Given the description of an element on the screen output the (x, y) to click on. 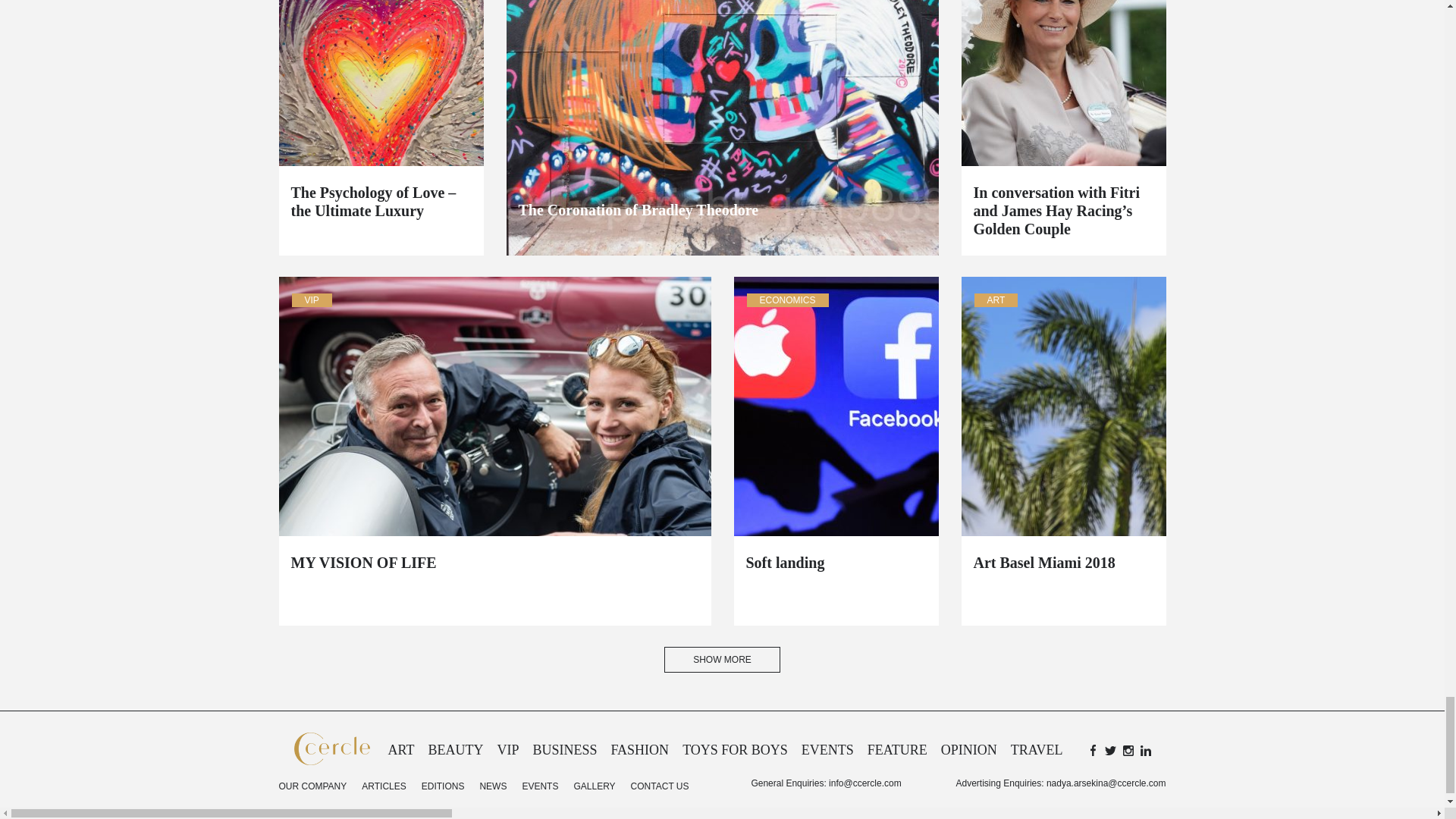
The Coronation of Bradley Theodore (722, 209)
Soft landing (835, 562)
MY VISION OF LIFE (494, 562)
Art Basel Miami 2018 (1064, 562)
